Given the description of an element on the screen output the (x, y) to click on. 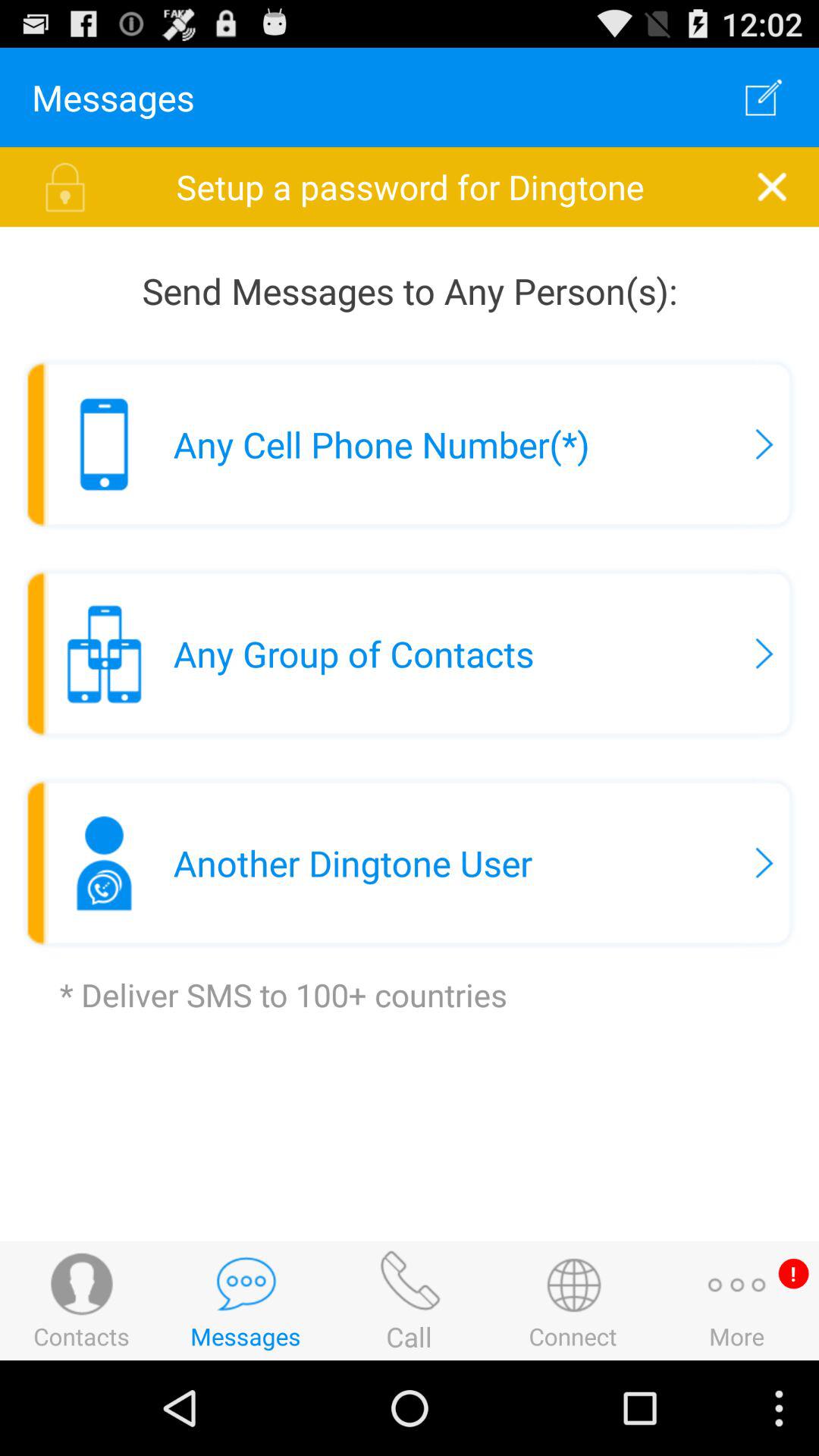
new write message (763, 97)
